Given the description of an element on the screen output the (x, y) to click on. 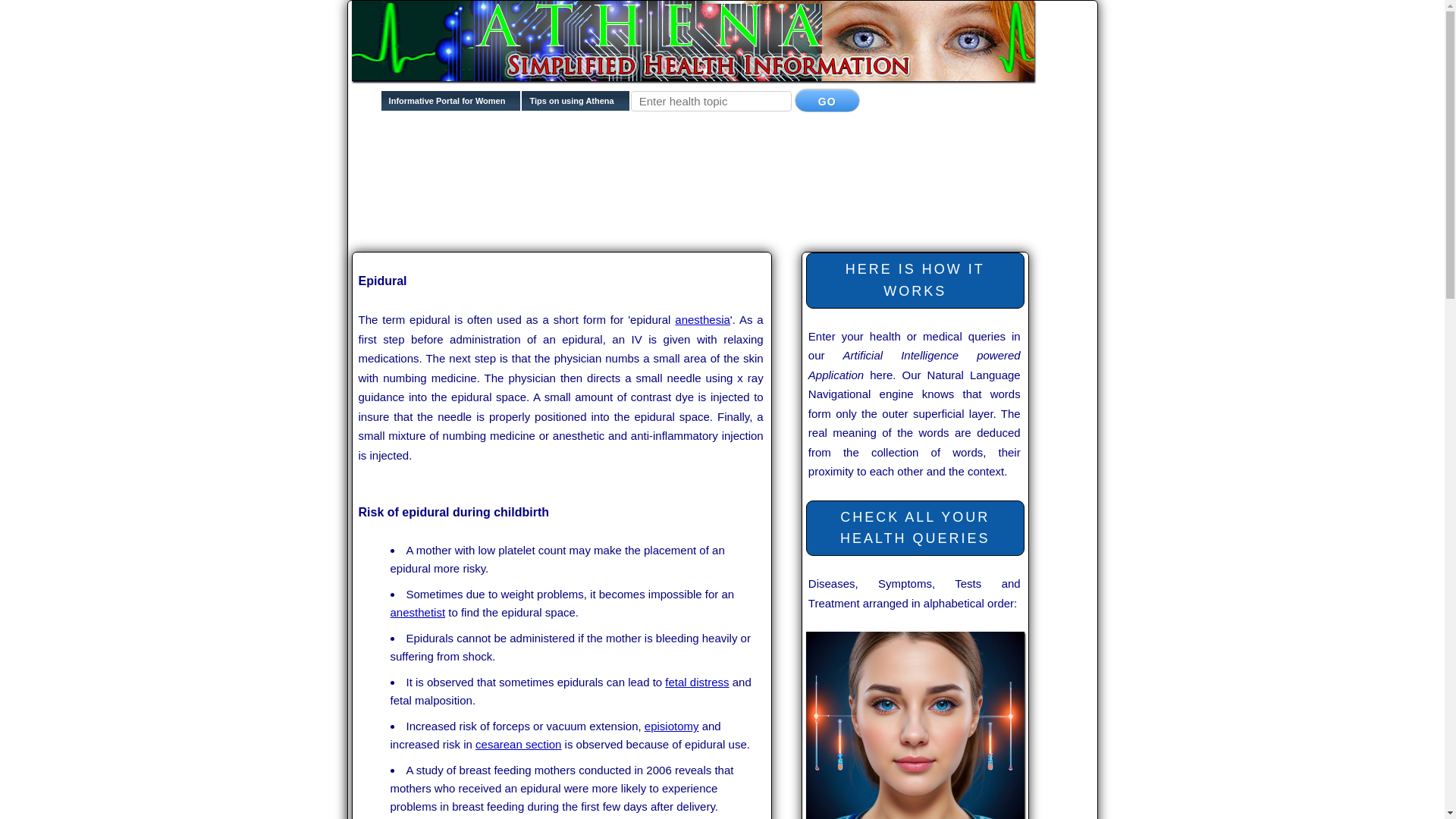
anesthesia (702, 318)
Tips on using Athena (574, 104)
Informative Portal for Women (451, 104)
cesarean section (518, 744)
Tips on using TargetWoman Condensed Health Information Tool (574, 104)
Information Portal for Women - Targetwoman (451, 104)
Go (827, 100)
Advertisement (628, 222)
fetal distress (697, 681)
anesthetist (417, 612)
